Given the description of an element on the screen output the (x, y) to click on. 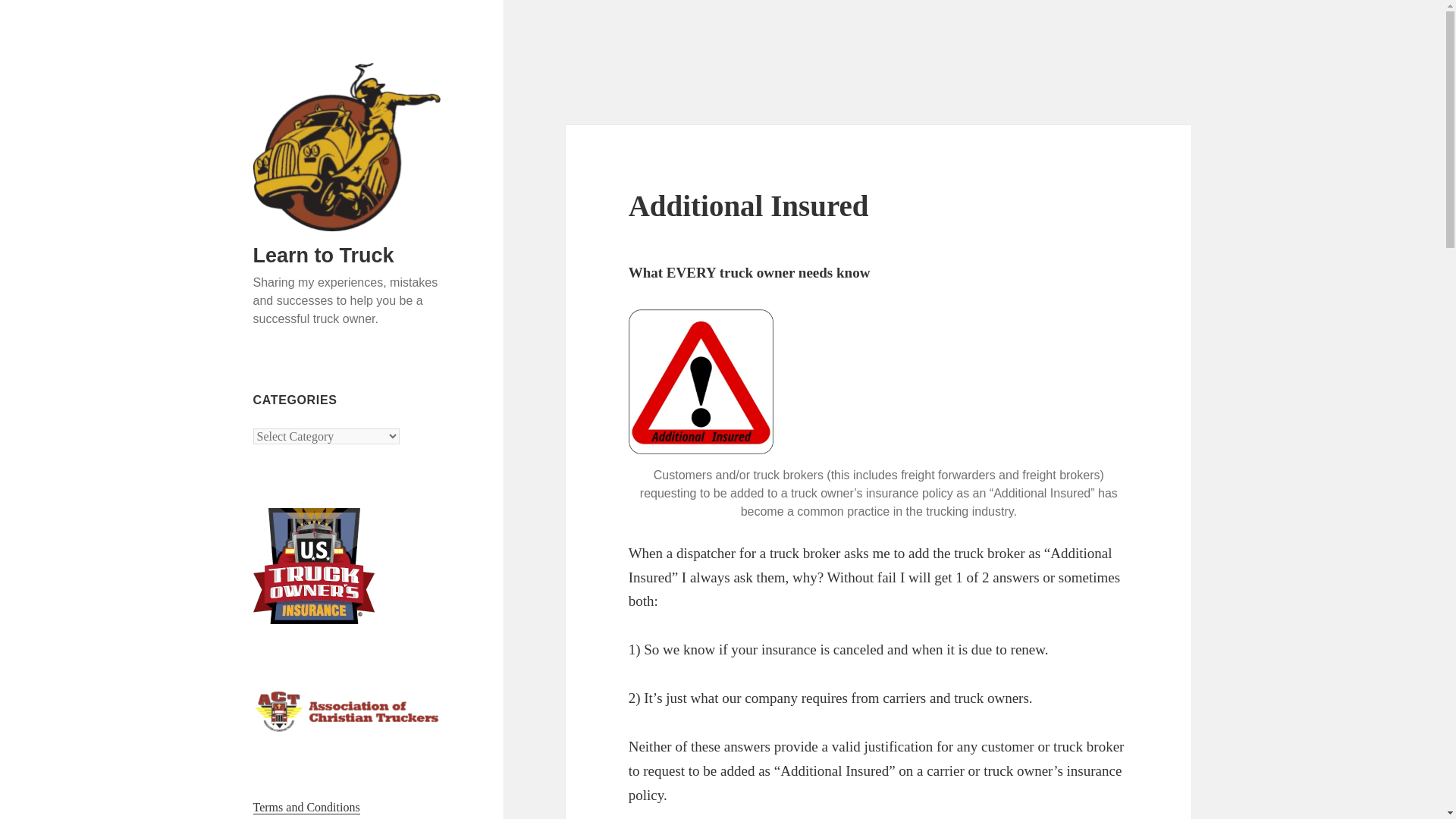
Learn to Truck (323, 255)
Additional Insured (748, 205)
Terms and Conditions (306, 807)
